Given the description of an element on the screen output the (x, y) to click on. 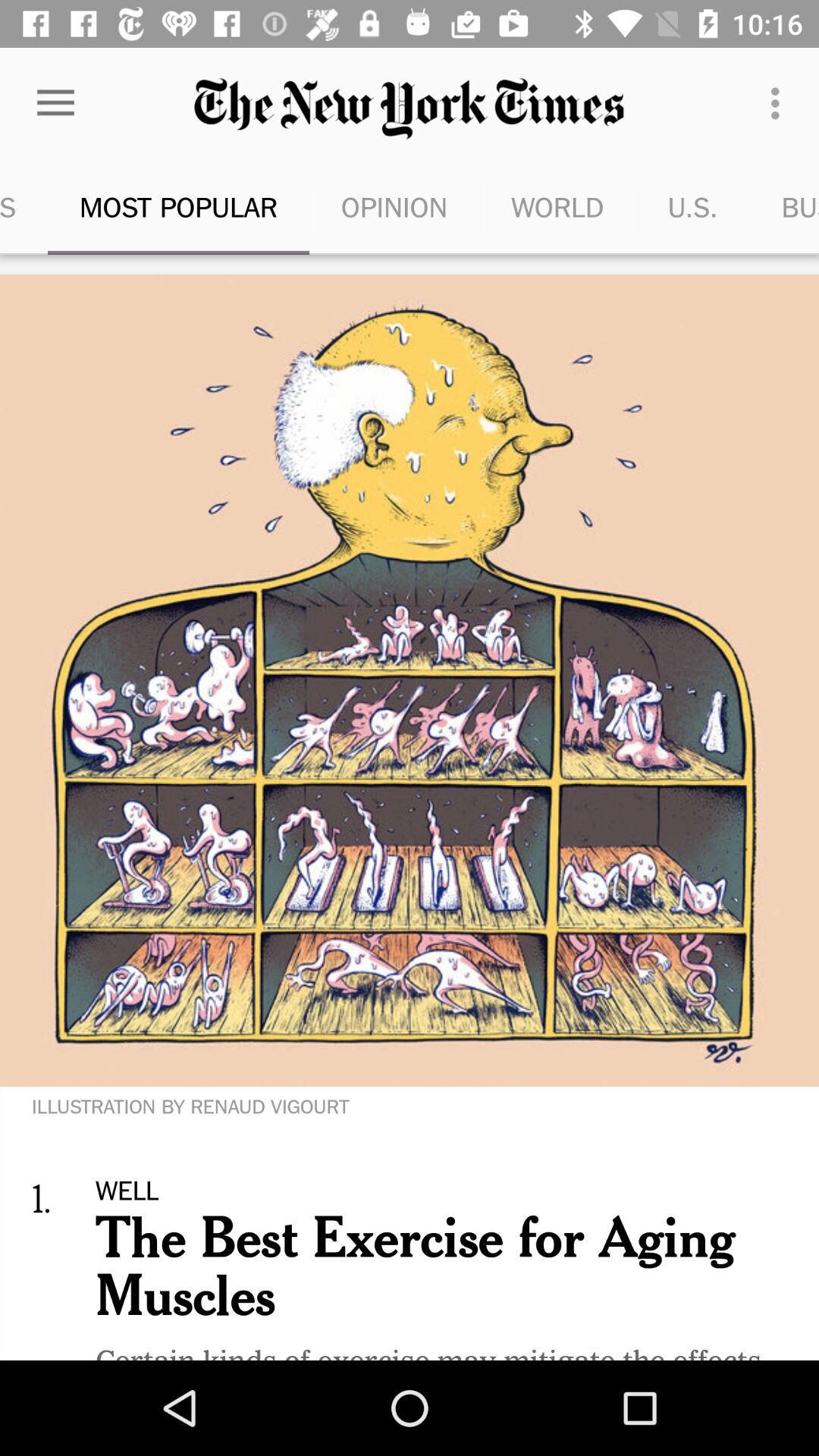
launch the icon to the right of top stories item (178, 206)
